Given the description of an element on the screen output the (x, y) to click on. 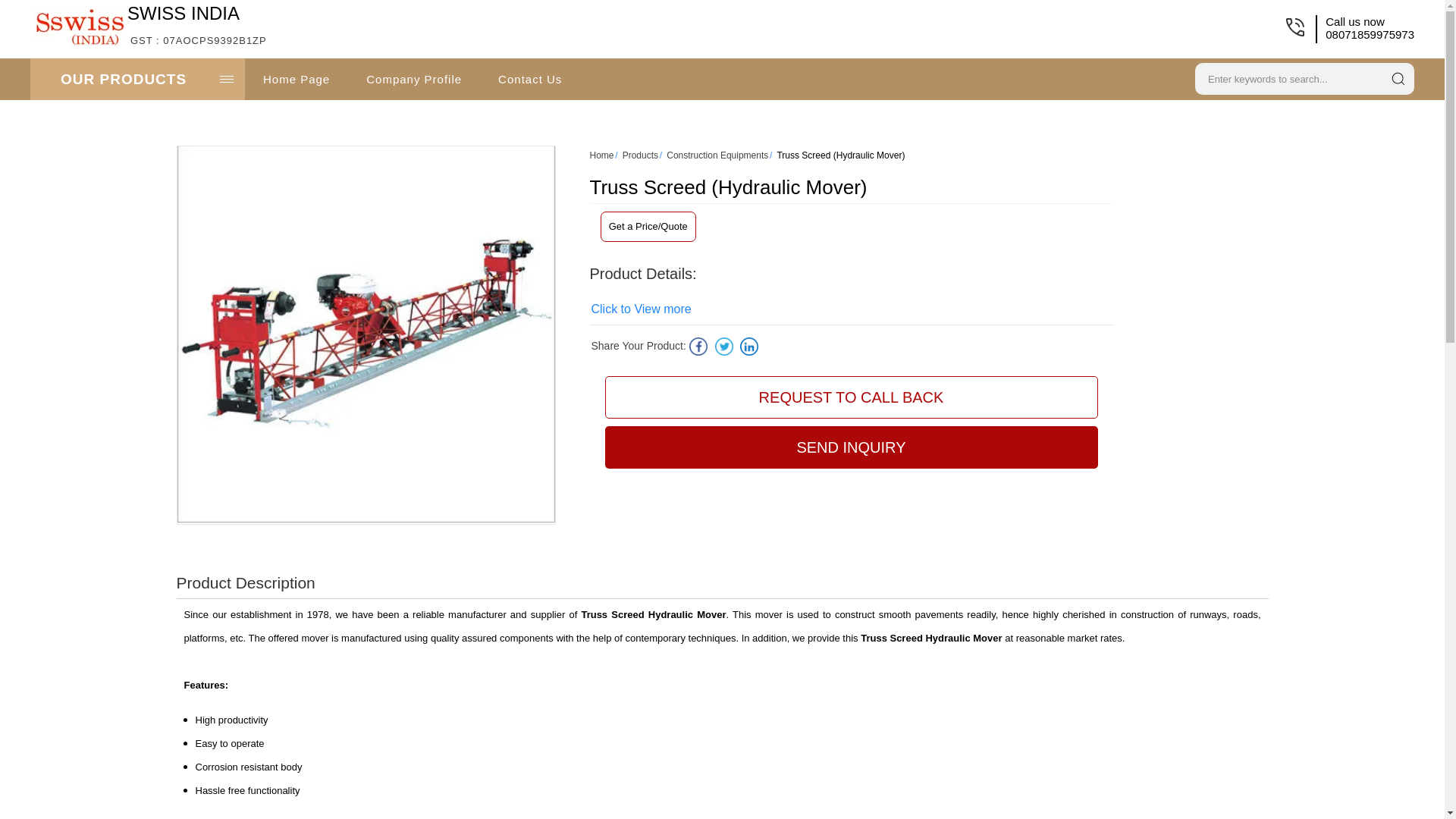
REQUEST TO CALL BACK (851, 396)
submit (1398, 78)
Home Page (295, 78)
submit (1398, 78)
SEND INQUIRY (851, 446)
Products (640, 154)
Company Profile (413, 78)
Construction Equipments (717, 154)
OUR PRODUCTS (137, 78)
Enter keywords to search... (1286, 76)
Click to View more (198, 25)
Contact Us (641, 309)
Home (529, 78)
